Given the description of an element on the screen output the (x, y) to click on. 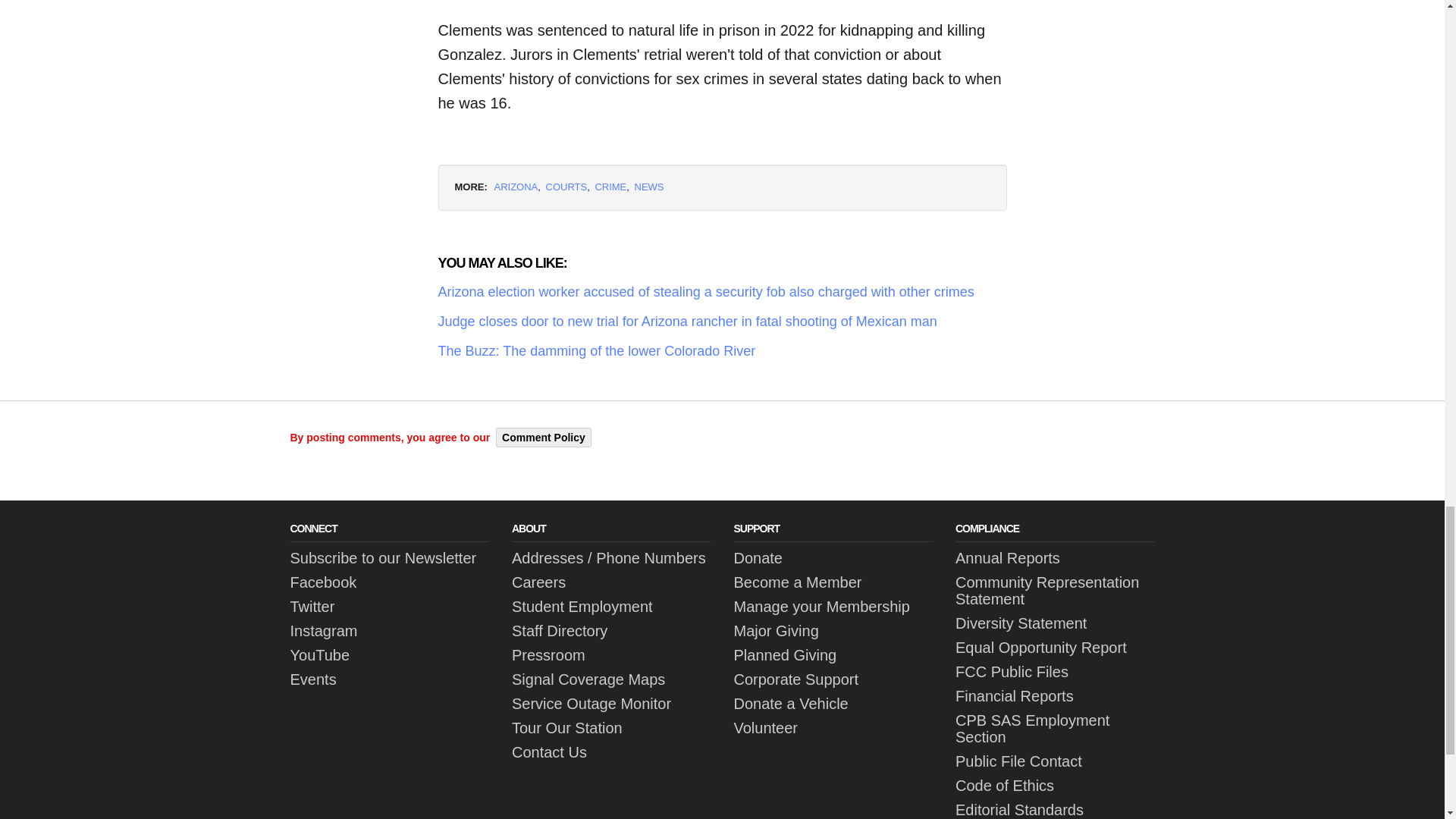
The Buzz: The damming of the lower Colorado River (722, 351)
